Given the description of an element on the screen output the (x, y) to click on. 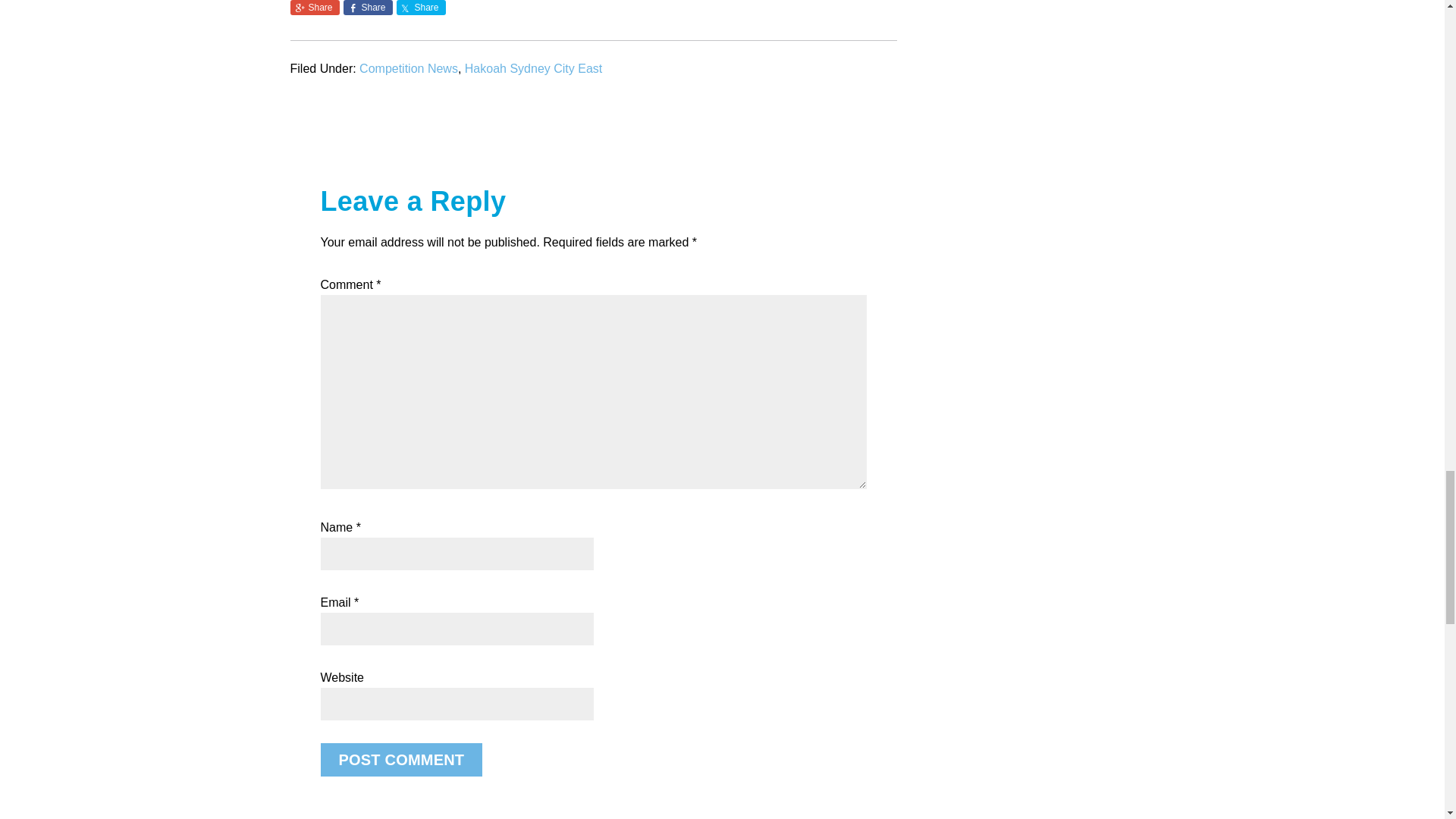
Post Comment (400, 759)
